Given the description of an element on the screen output the (x, y) to click on. 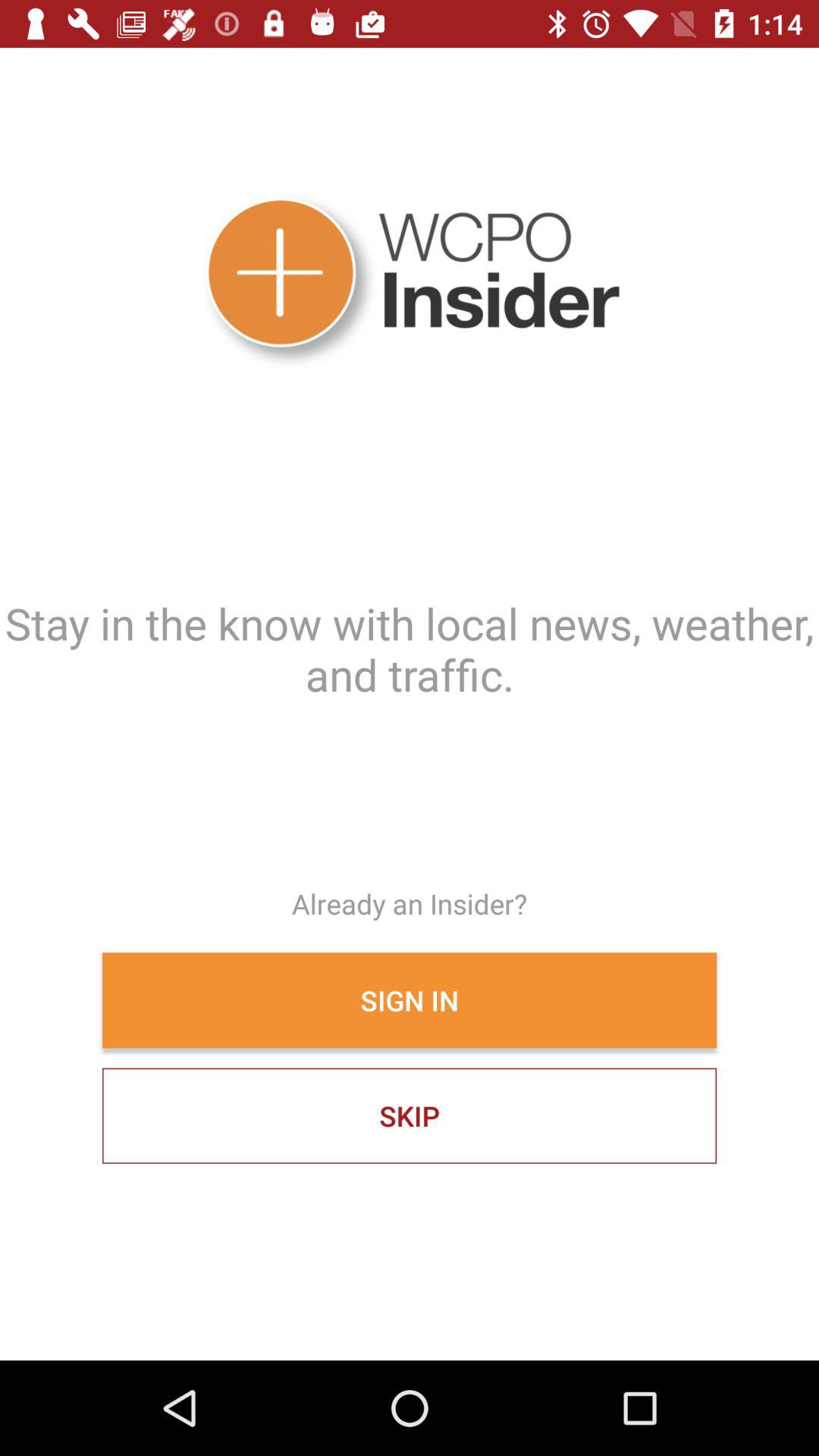
swipe until the sign in (409, 1000)
